Given the description of an element on the screen output the (x, y) to click on. 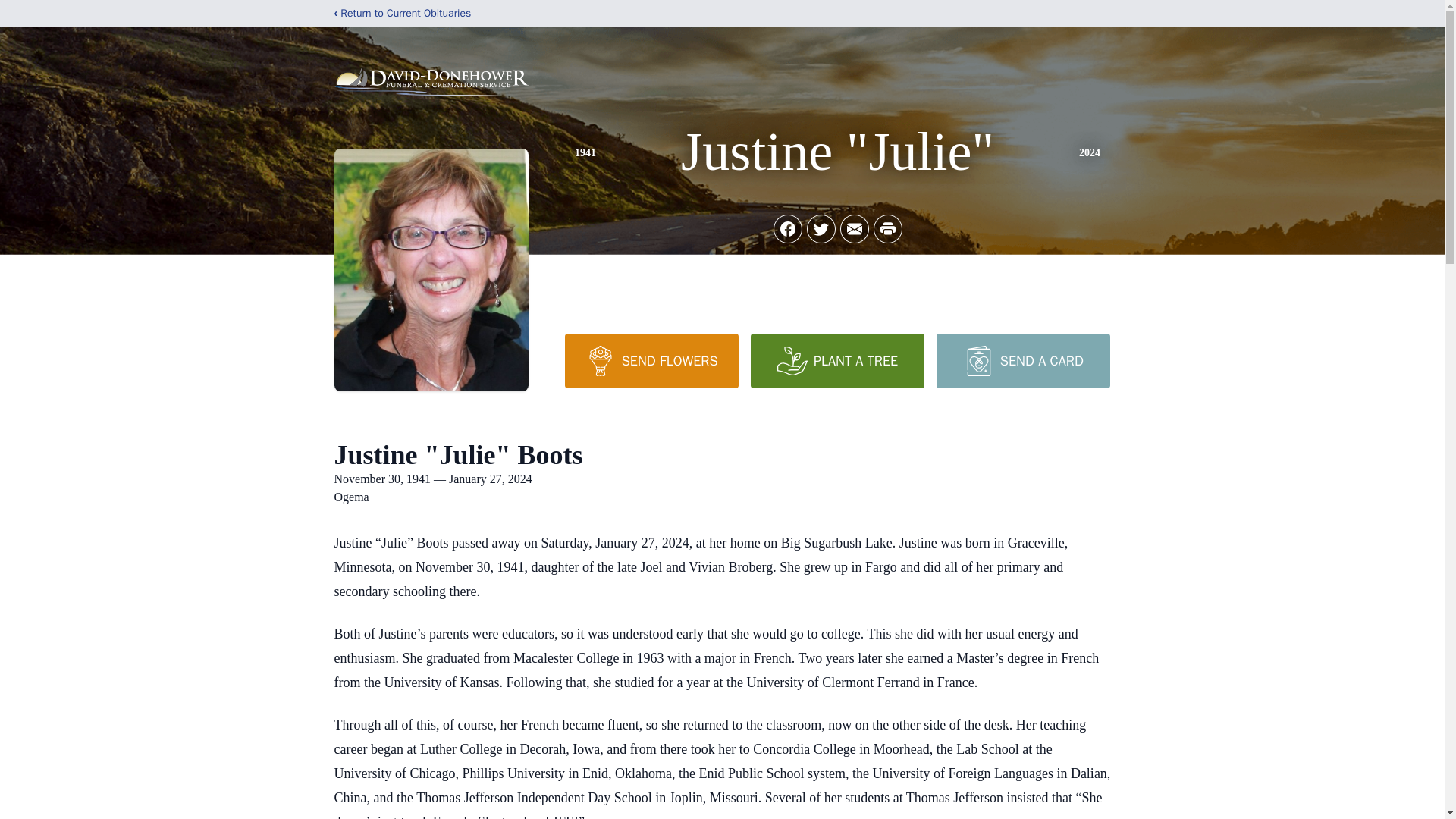
PLANT A TREE (837, 360)
SEND FLOWERS (651, 360)
SEND A CARD (1022, 360)
